Given the description of an element on the screen output the (x, y) to click on. 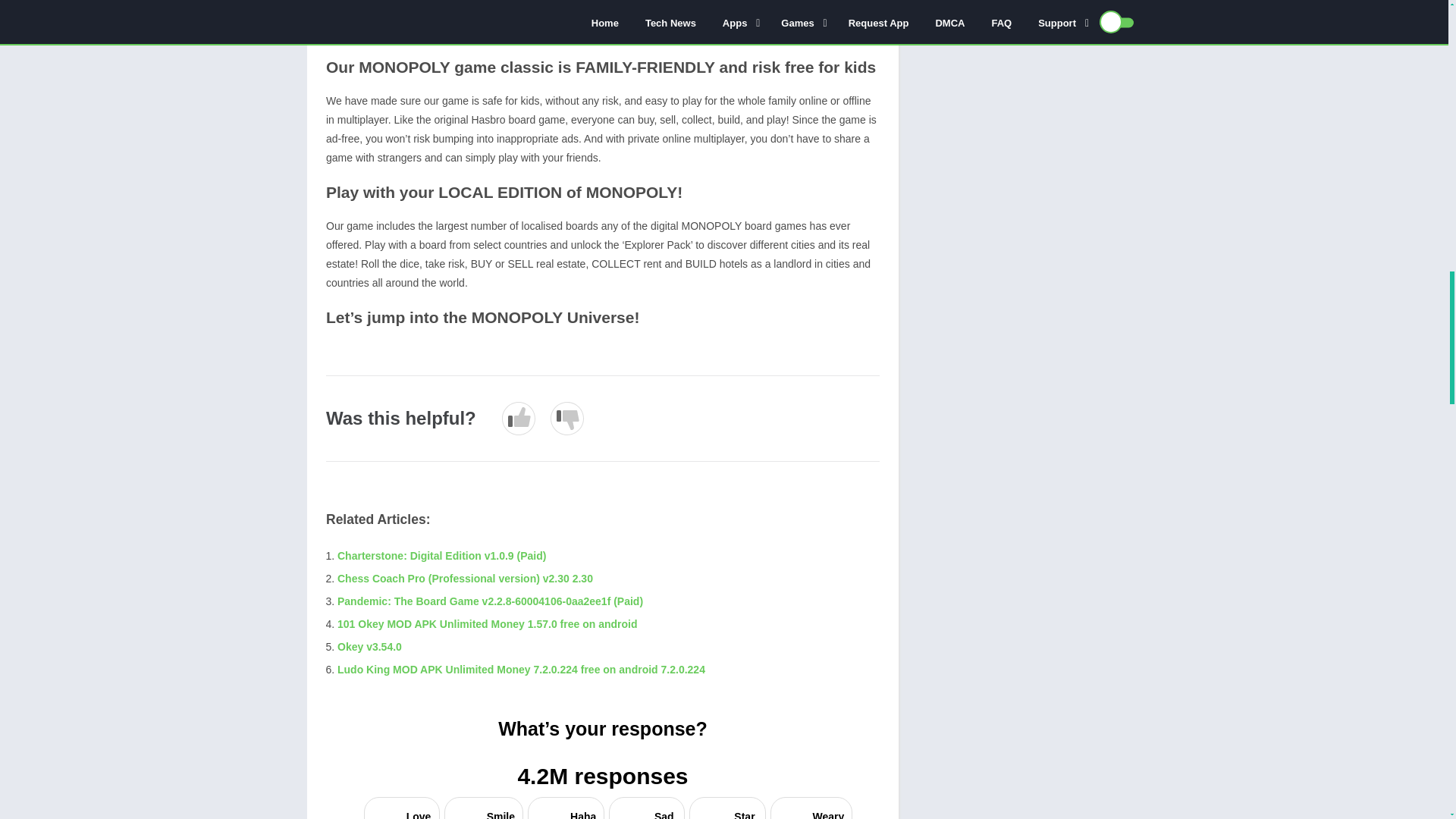
Okey v3.54.0 (369, 646)
101 Okey MOD APK Unlimited Money 1.57.0 free on android (487, 623)
